Given the description of an element on the screen output the (x, y) to click on. 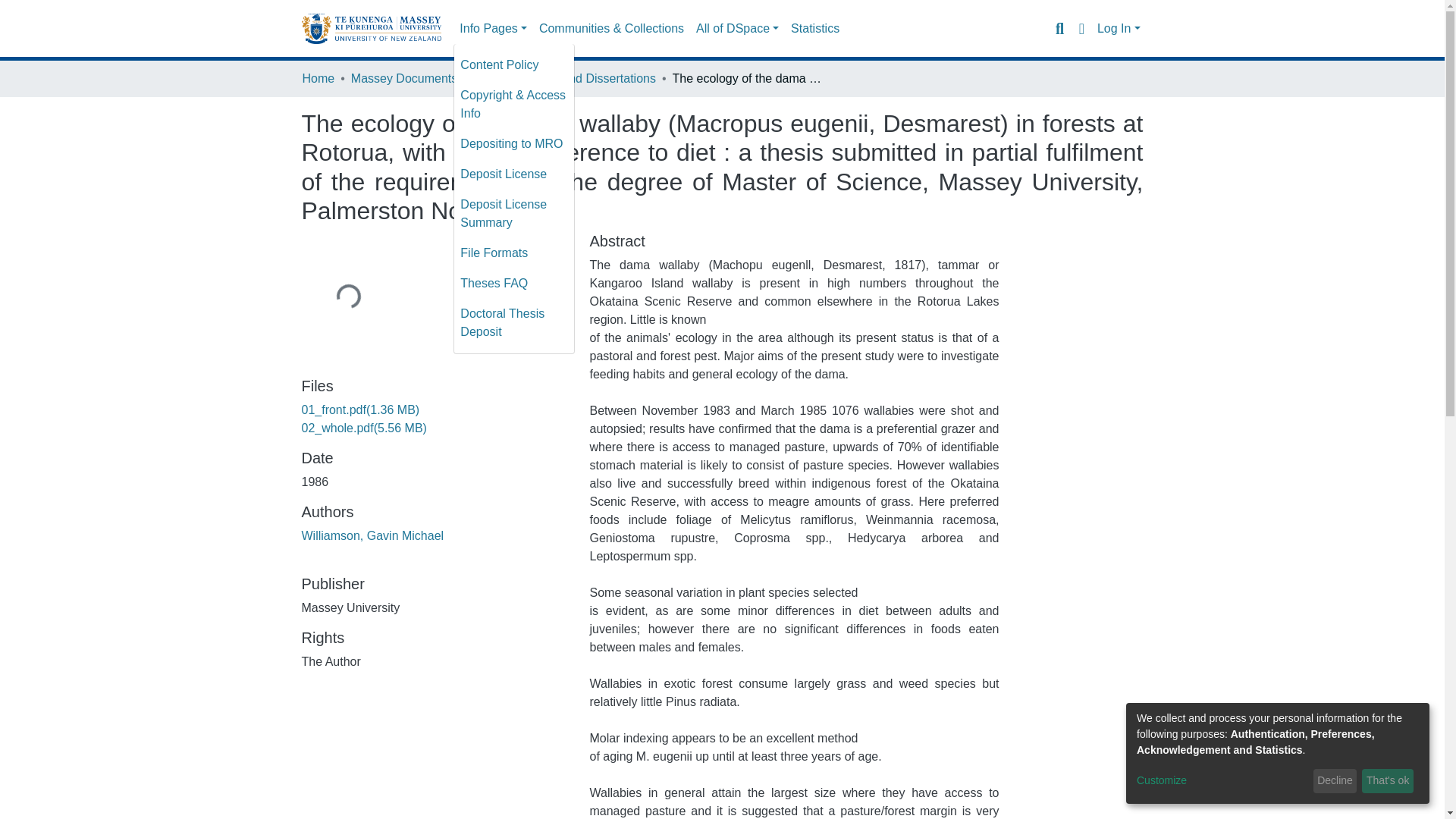
All of DSpace (737, 28)
Statistics (814, 28)
Depositing to MRO (513, 143)
Deposit License Summary (513, 213)
Theses FAQ (513, 283)
Massey Documents by Type (426, 78)
Home (317, 78)
Search (1058, 28)
Content Policy (513, 64)
Statistics (814, 28)
Theses and Dissertations (587, 78)
Log In (1118, 28)
Info Pages (492, 28)
Williamson, Gavin Michael (372, 535)
Deposit License (513, 173)
